Given the description of an element on the screen output the (x, y) to click on. 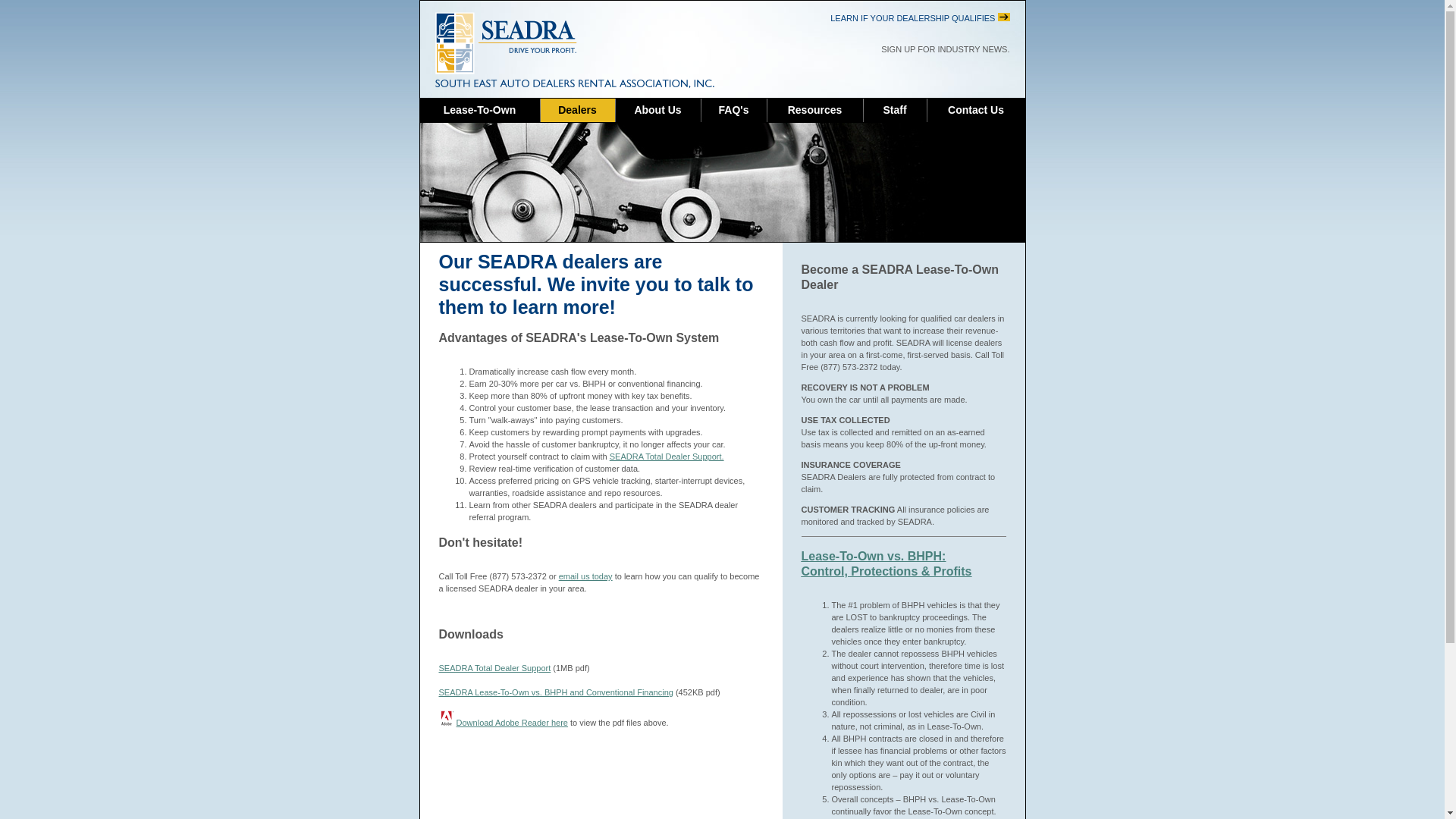
SEADRA Lease-To-Own vs. BHPH and Conventional Financing (555, 691)
FAQ's (734, 110)
Dealers (576, 110)
SEADRA Total Dealer Support (494, 667)
Staff (893, 110)
Lease-To-Own (479, 110)
About Us (657, 110)
SEADRA Total Dealer Support. (666, 456)
Download Adobe Reader here (512, 722)
LEARN IF YOUR DEALERSHIP QUALIFIES (919, 18)
Contact Us (975, 110)
SIGN UP FOR INDUSTRY NEWS. (944, 49)
email us today (585, 575)
Resources (815, 110)
